Given the description of an element on the screen output the (x, y) to click on. 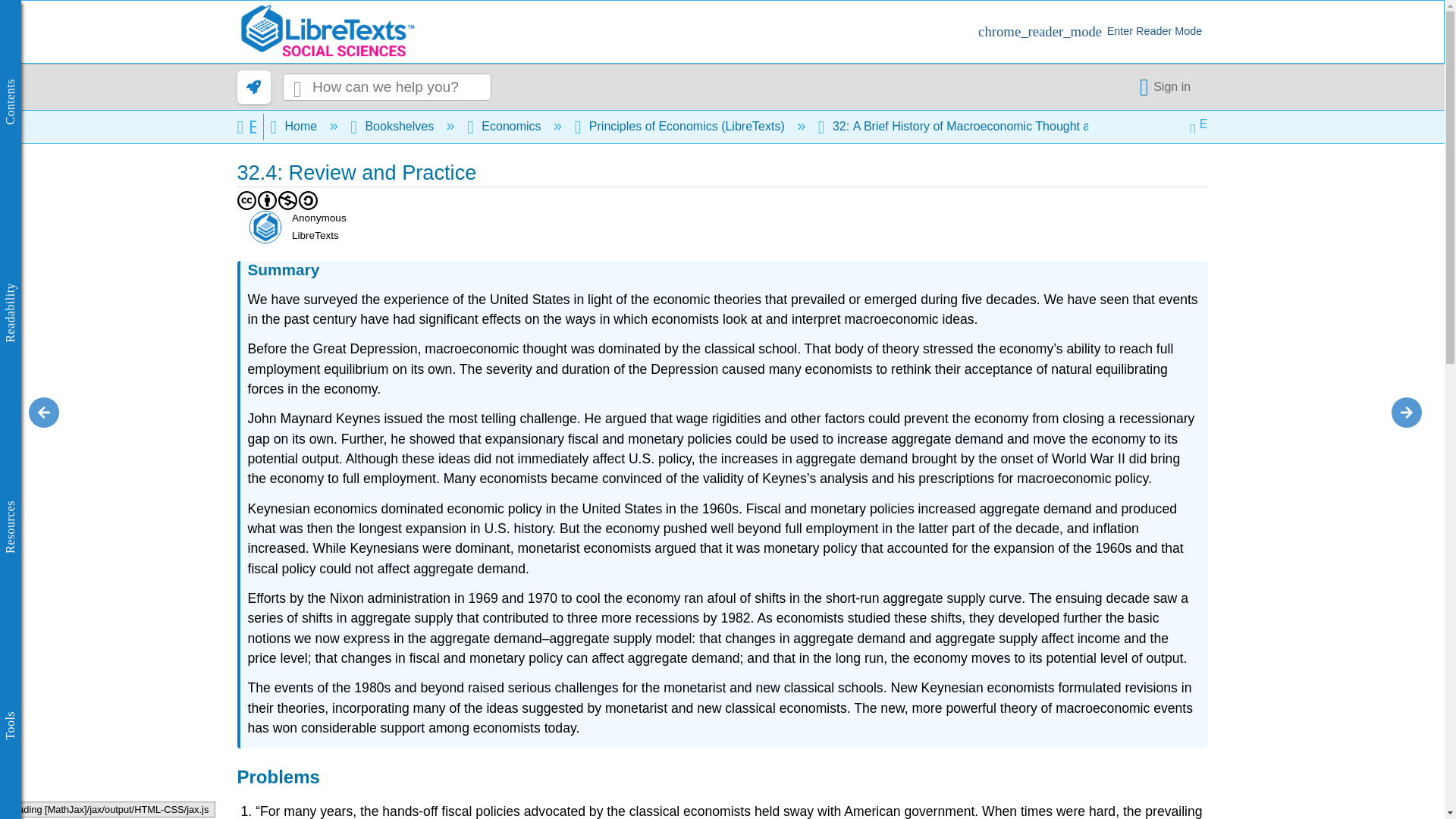
BY (267, 199)
NC (288, 199)
SA (307, 199)
CC (246, 199)
Single Sign-On (1167, 86)
Anonymous (265, 226)
